Given the description of an element on the screen output the (x, y) to click on. 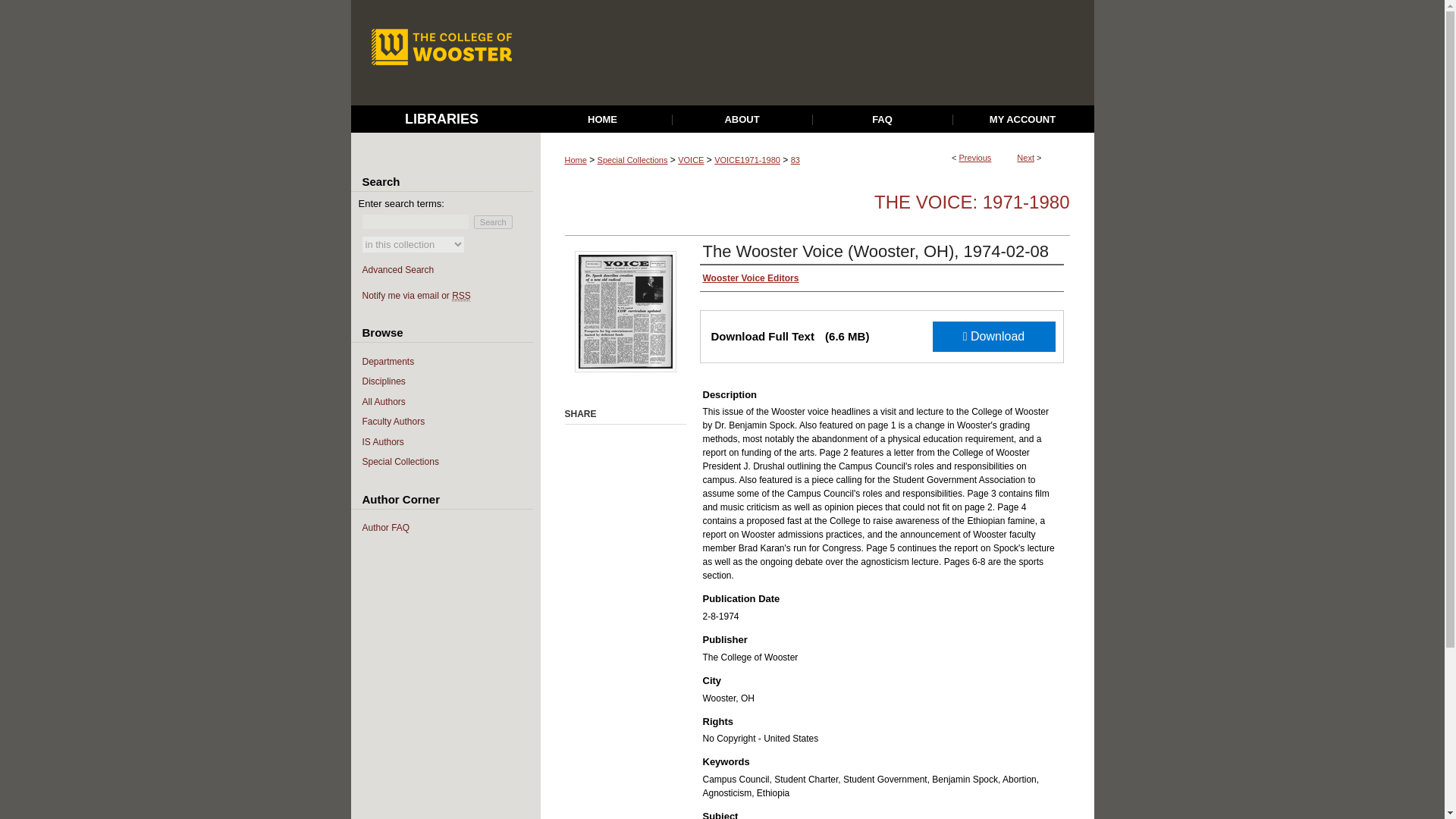
Open Works (812, 53)
LIBRARIES (441, 118)
About (741, 119)
VOICE1971-1980 (747, 159)
College of Wooster Libraries (441, 118)
ABOUT (741, 119)
Home (603, 119)
FAQ (882, 119)
Next (1024, 157)
Special Collections (632, 159)
